Given the description of an element on the screen output the (x, y) to click on. 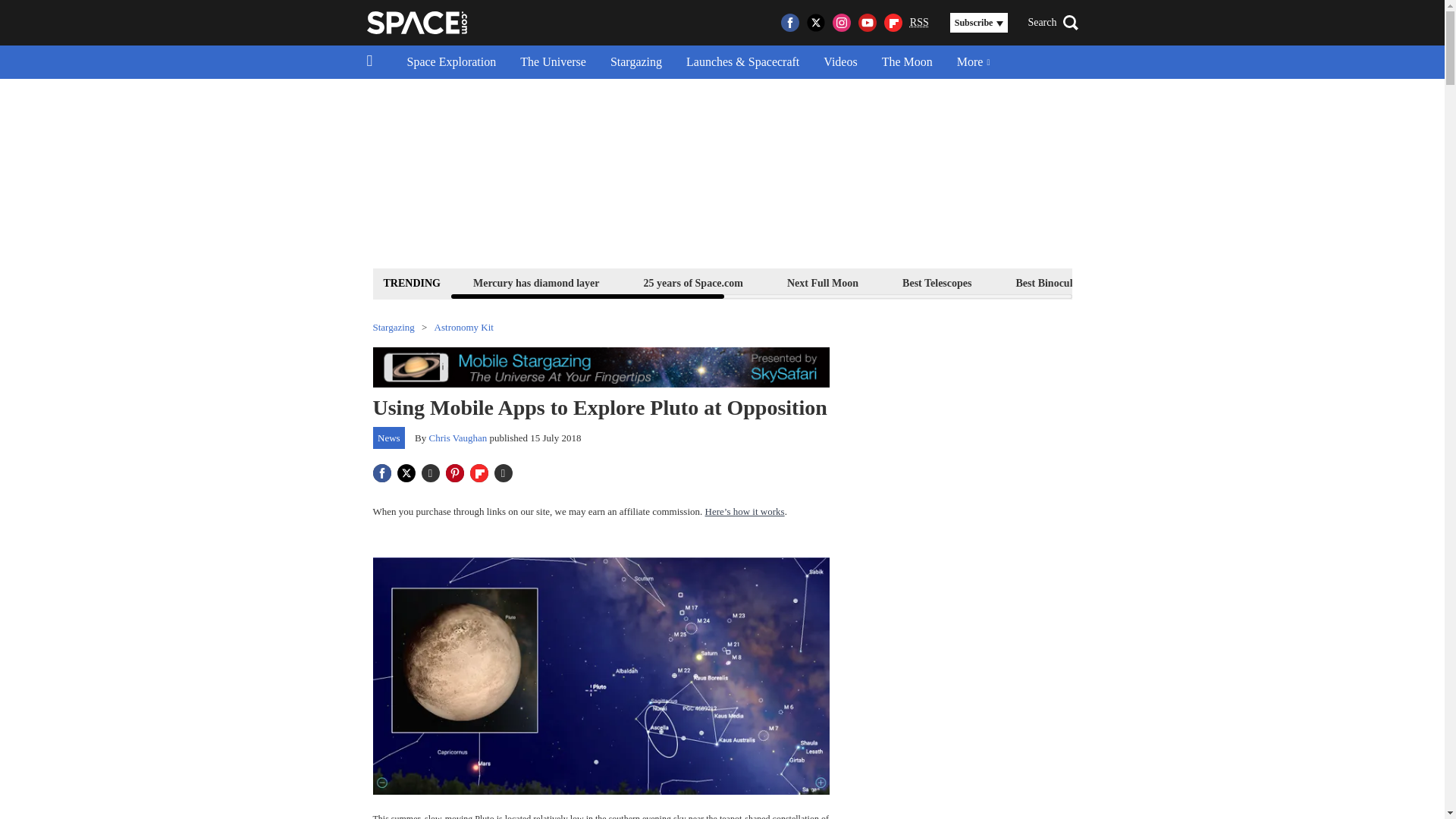
Videos (839, 61)
The Moon (906, 61)
Mercury has diamond layer (536, 282)
The Universe (553, 61)
Really Simple Syndication (919, 21)
Space Calendar (1301, 282)
Next Full Moon (822, 282)
Best Binoculars (1051, 282)
25 years of Space.com (693, 282)
RSS (919, 22)
Stargazing (636, 61)
Space Exploration (451, 61)
Best Star Projectors (1176, 282)
Best Telescopes (936, 282)
